Given the description of an element on the screen output the (x, y) to click on. 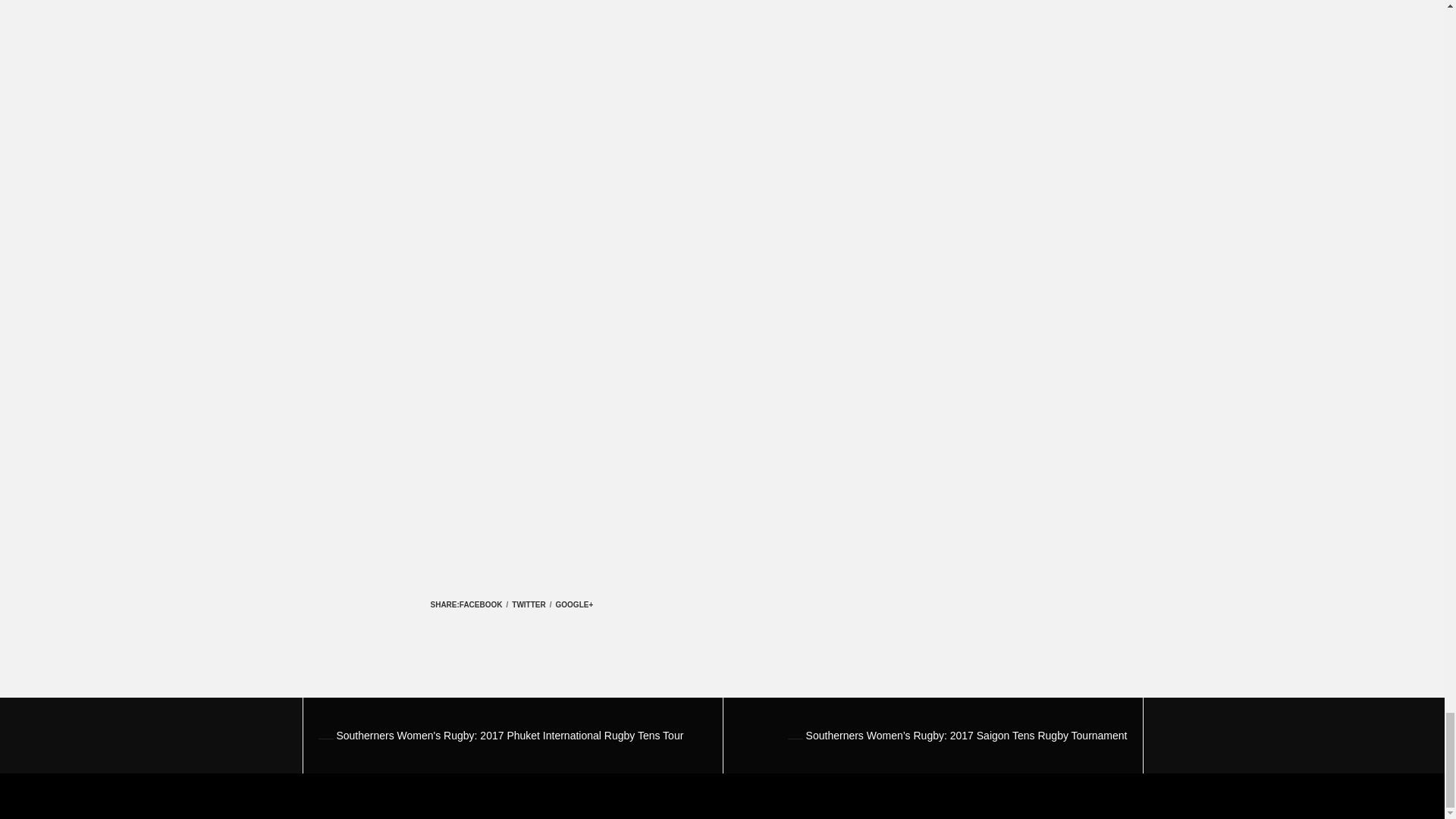
Share on Twitter (528, 604)
FACEBOOK (481, 604)
Share on Facebook (481, 604)
TWITTER (528, 604)
